Given the description of an element on the screen output the (x, y) to click on. 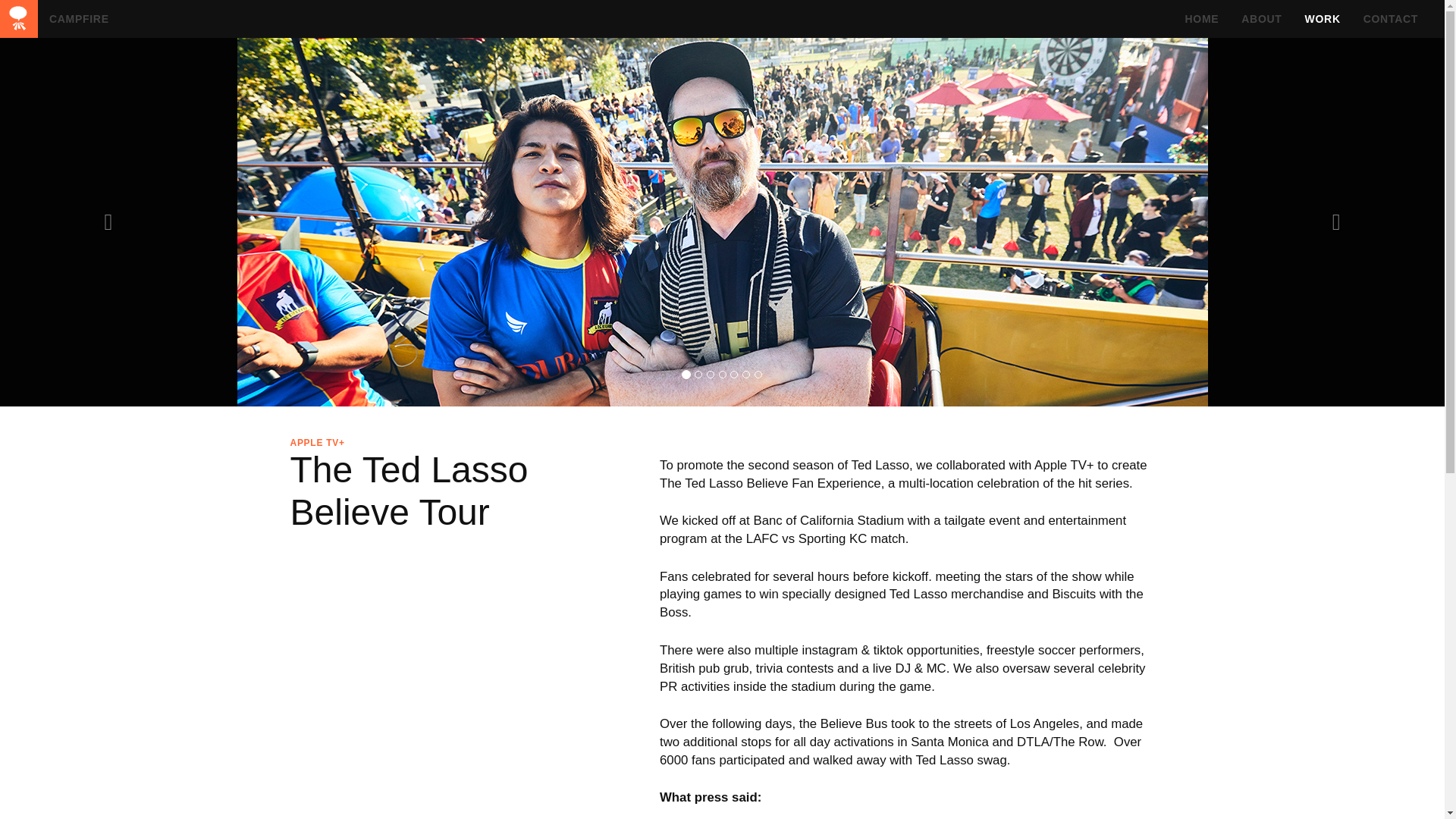
ABOUT (1261, 18)
CAMPFIRE (78, 18)
HOME (1201, 18)
CAMPFIRE (18, 18)
WORK (1323, 18)
CONTACT (1390, 18)
